Given the description of an element on the screen output the (x, y) to click on. 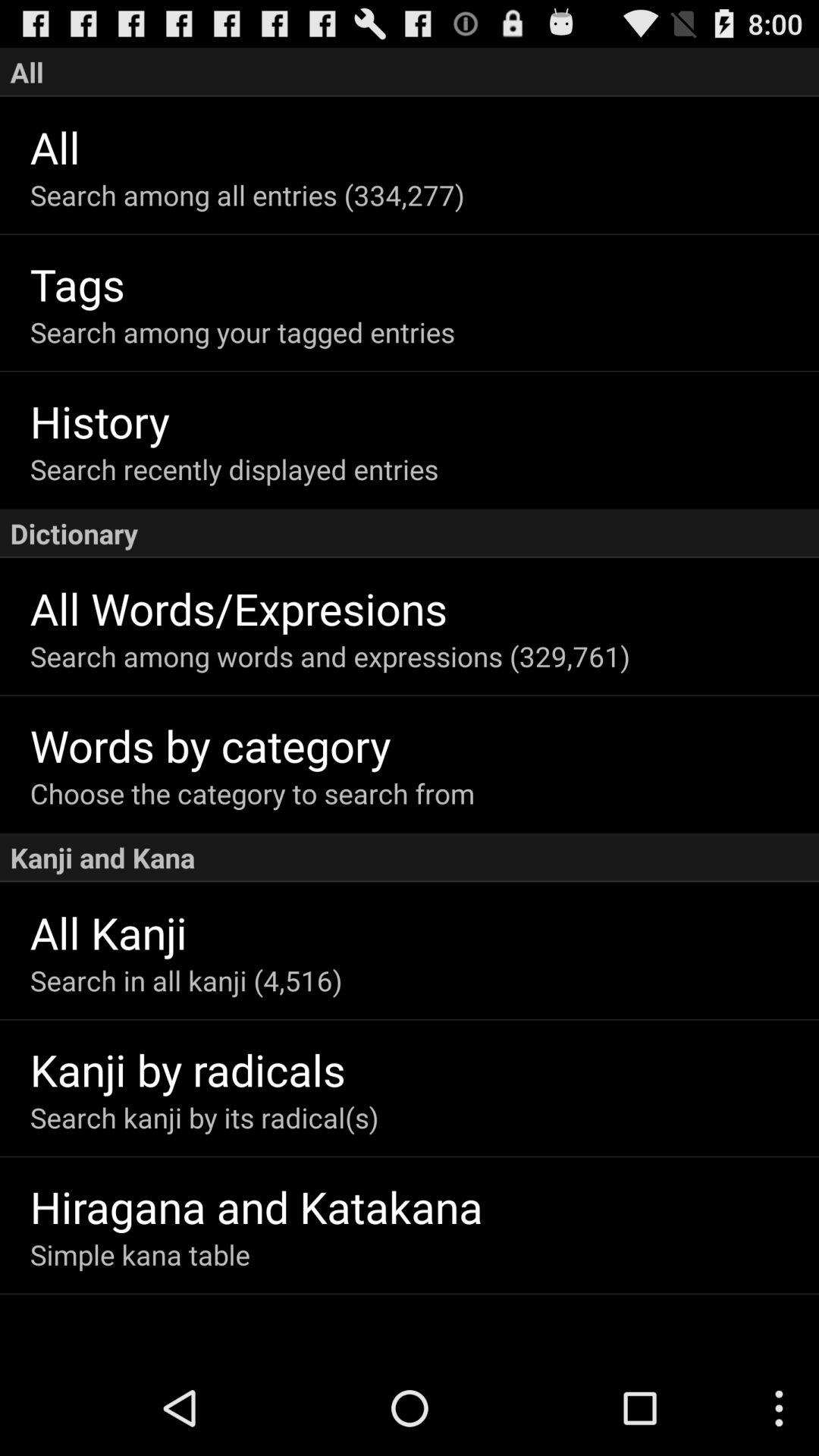
click app below history icon (424, 468)
